Given the description of an element on the screen output the (x, y) to click on. 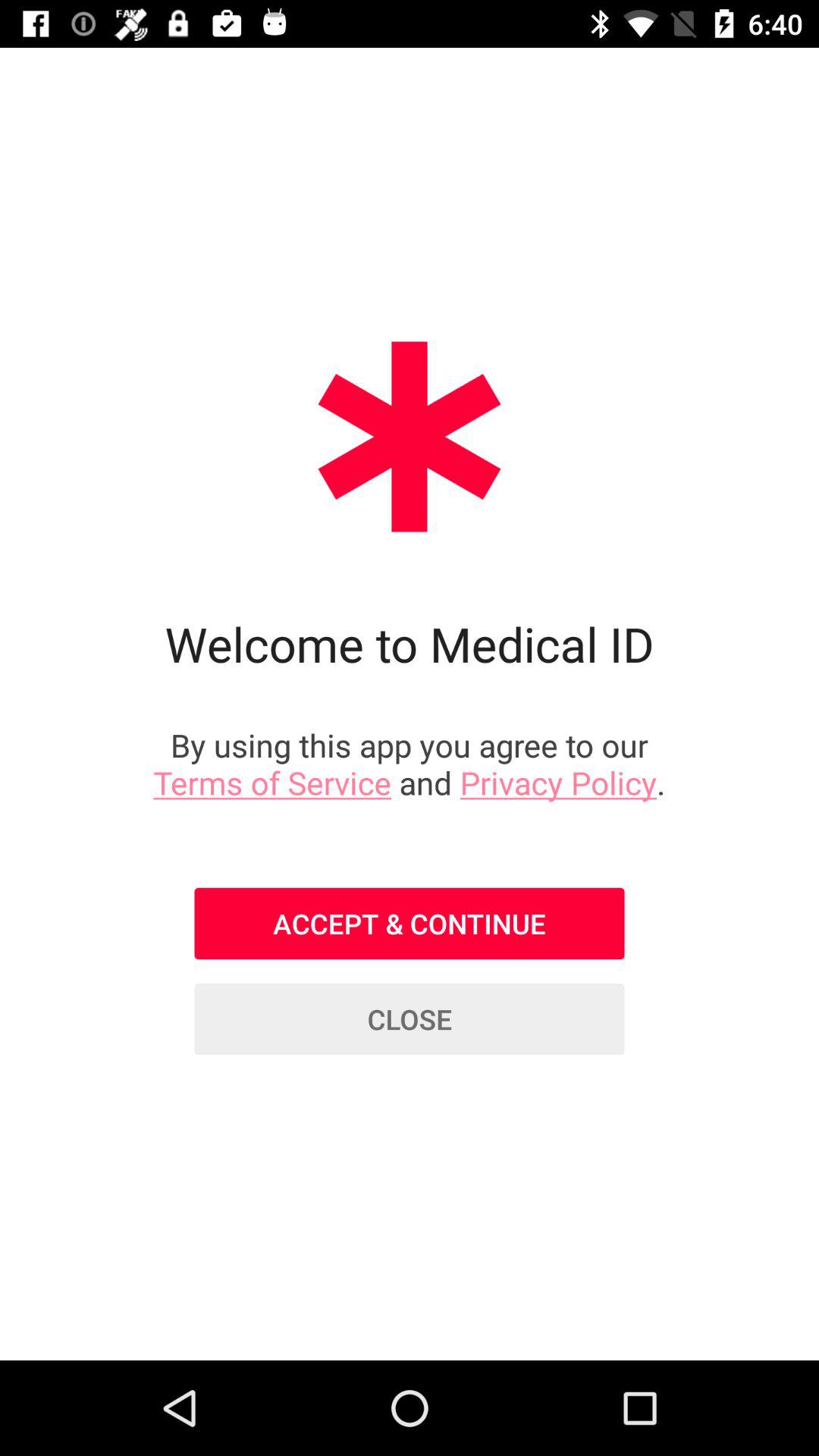
turn on icon below welcome to medical icon (409, 763)
